Given the description of an element on the screen output the (x, y) to click on. 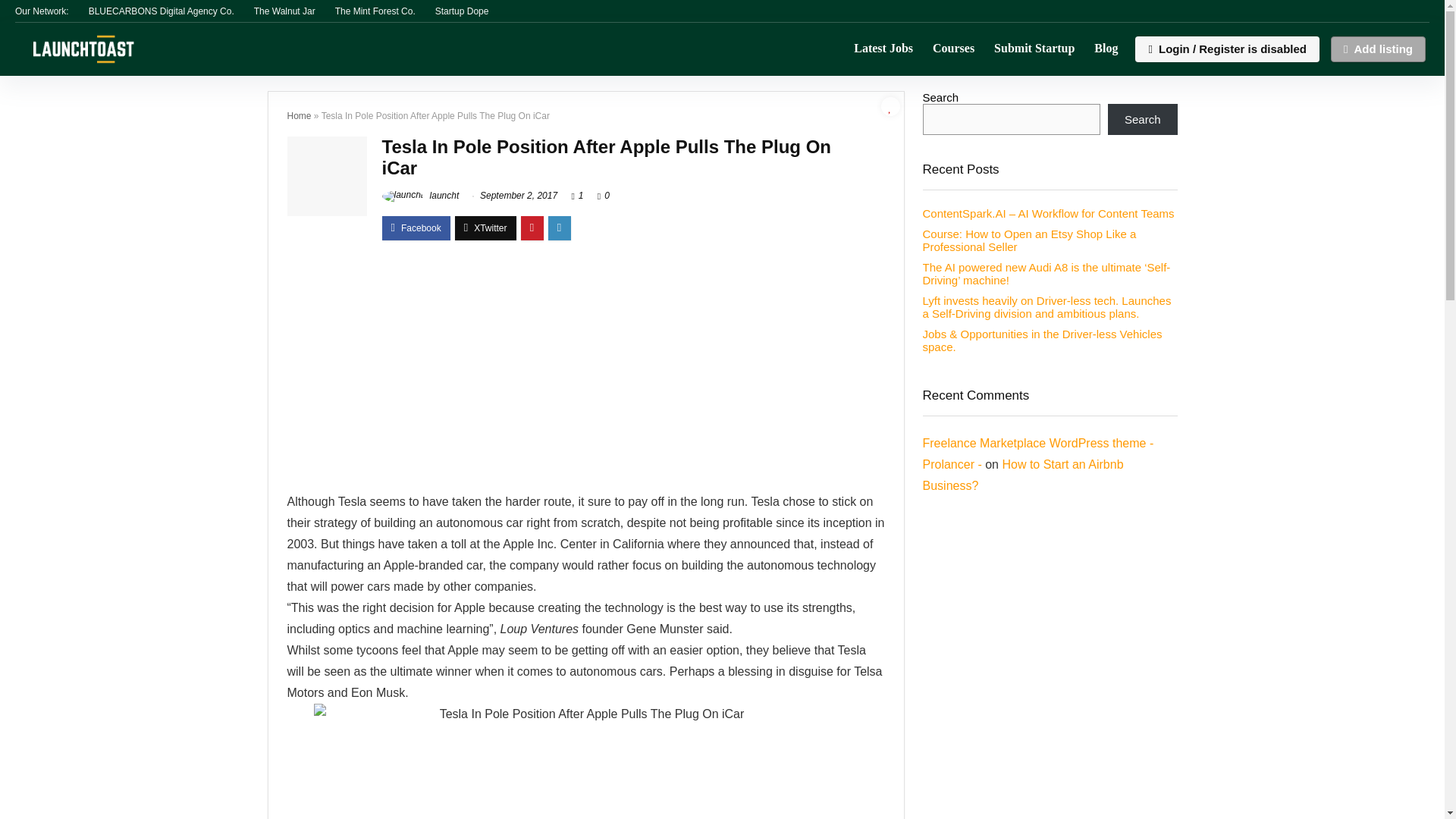
Advertisement (584, 373)
0 (607, 195)
Submit Startup (1034, 49)
BLUECARBONS Digital Agency Co. (161, 10)
Add listing (1377, 49)
The Walnut Jar (284, 10)
The Mint Forest Co. (374, 10)
Search (1142, 119)
Home (298, 115)
Blog (1105, 49)
launcht (420, 195)
Our Network: (41, 10)
Courses (953, 49)
Startup Dope (462, 10)
Latest Jobs (883, 49)
